Given the description of an element on the screen output the (x, y) to click on. 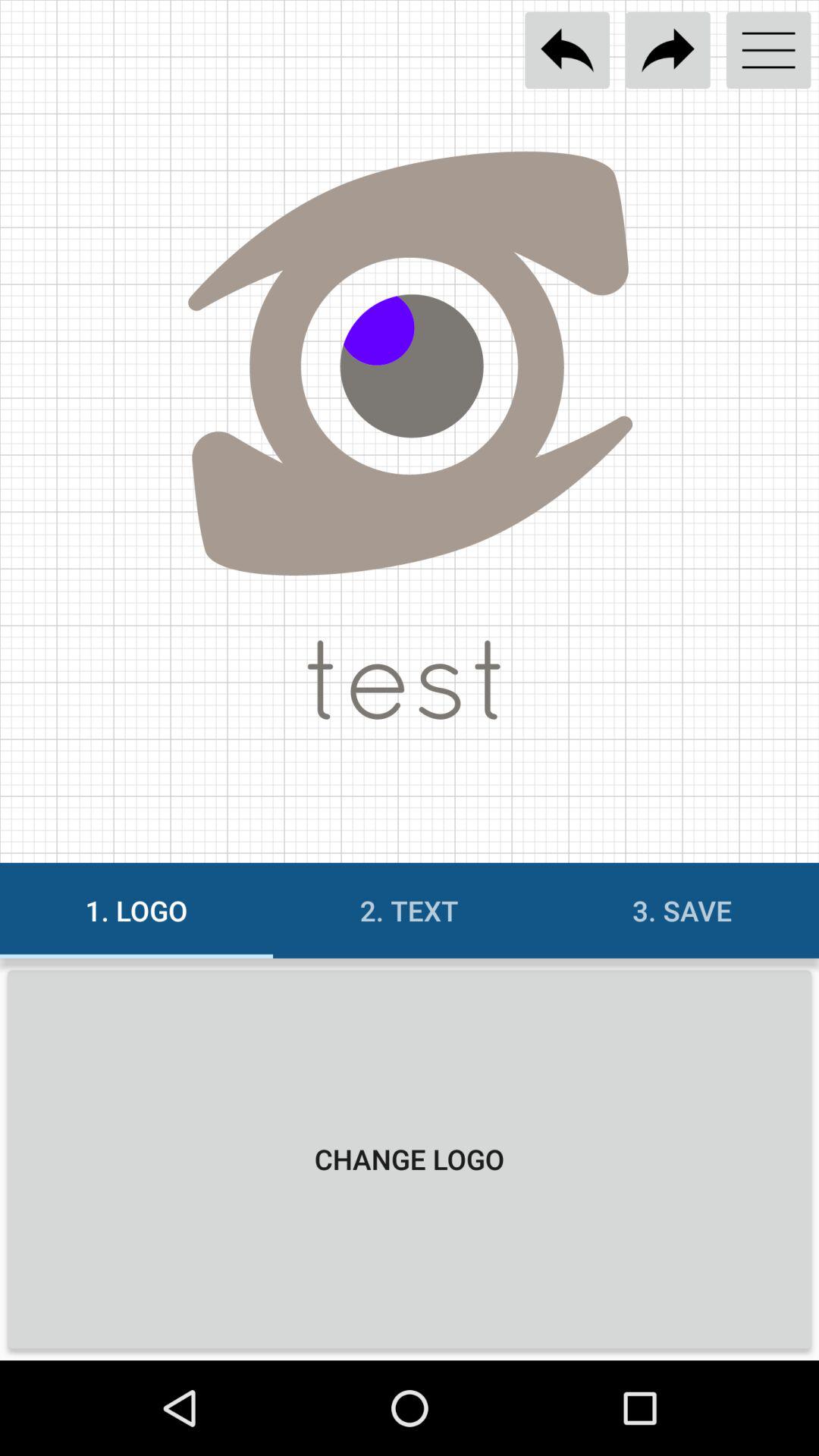
go back (566, 50)
